Given the description of an element on the screen output the (x, y) to click on. 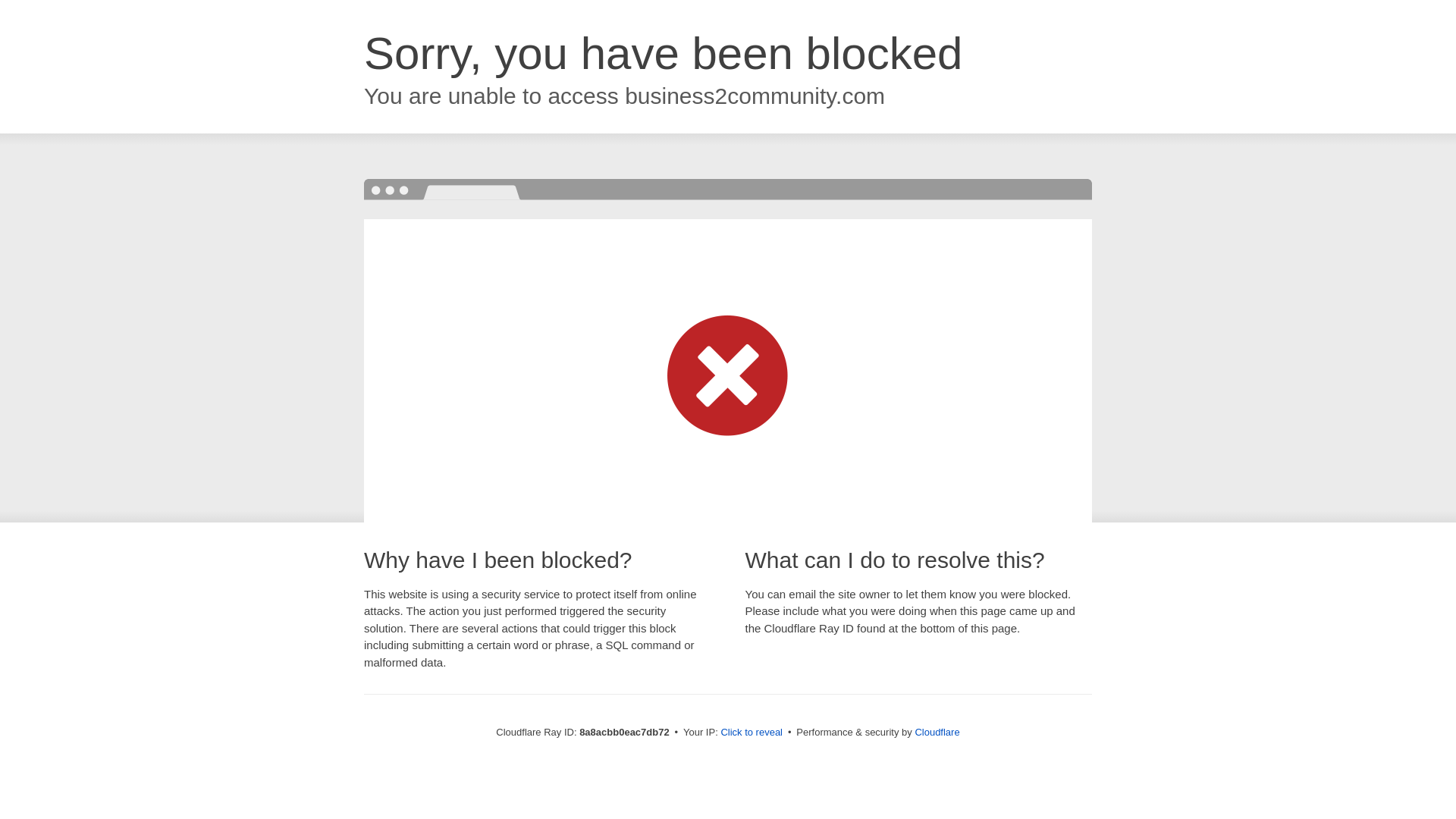
Cloudflare (936, 731)
Click to reveal (751, 732)
